Given the description of an element on the screen output the (x, y) to click on. 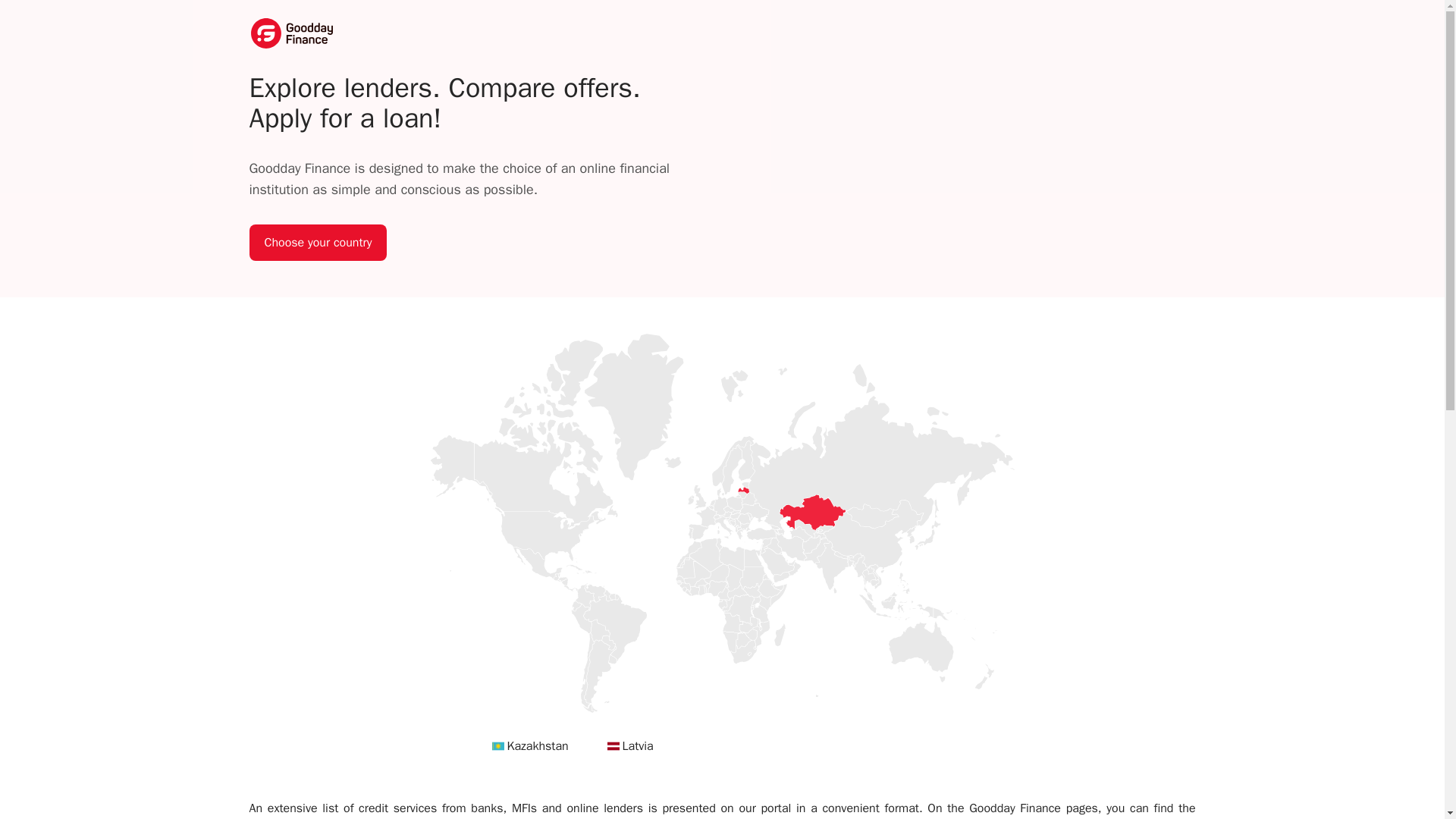
Latvia (636, 746)
Kazakhstan (536, 746)
Kazakhstan (536, 746)
Latvia (636, 746)
Latvia (612, 746)
 Compare offers and apply for a loan online  (290, 33)
Kazakhstan (497, 746)
Choose your country (317, 242)
